Given the description of an element on the screen output the (x, y) to click on. 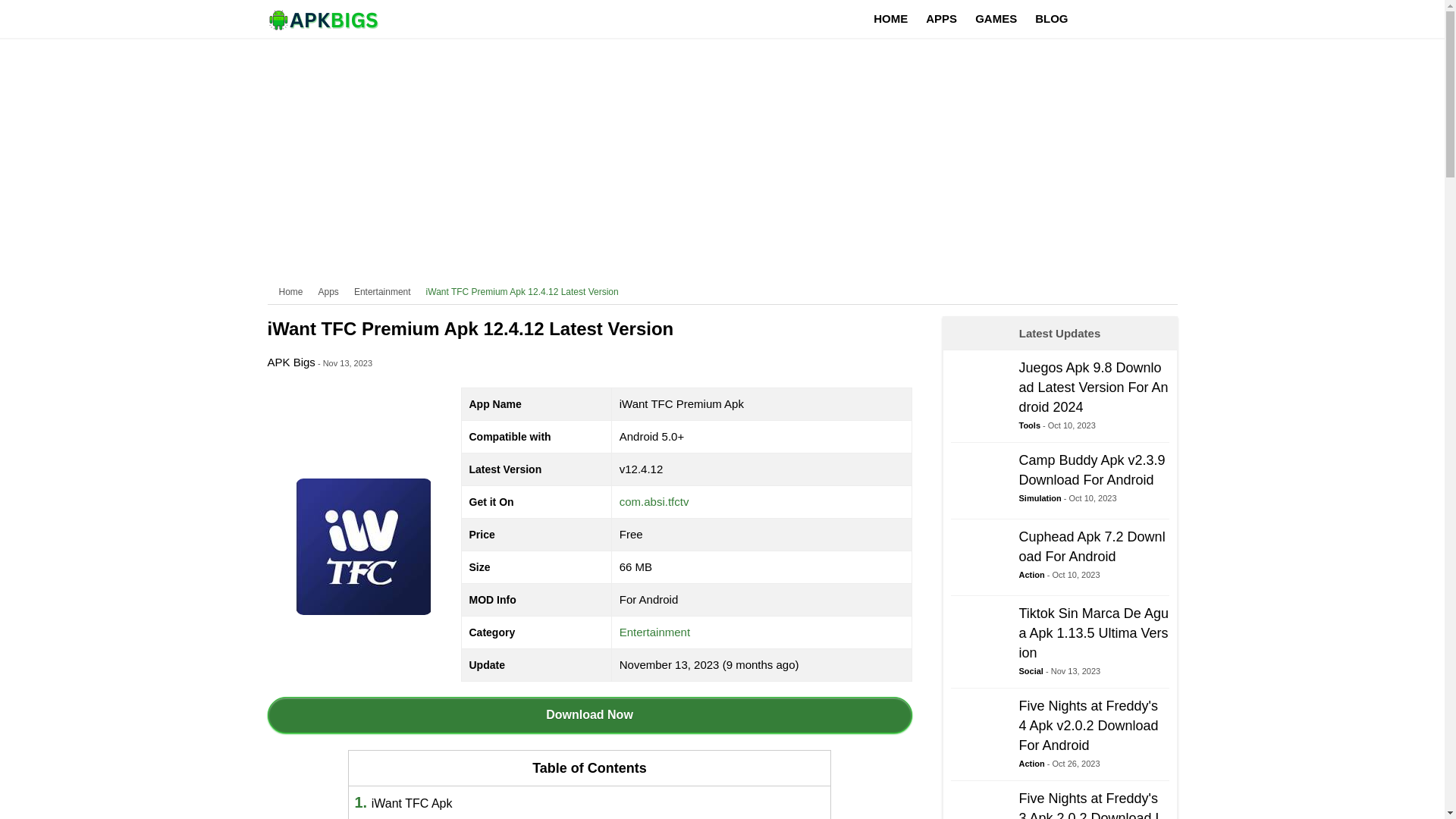
BLOG (1051, 18)
com.absi.tfctv (1059, 561)
Entertainment (654, 501)
Download Now (381, 291)
iWant TFC Apk (588, 714)
Entertainment (411, 802)
APPS (655, 631)
iWant TFC Premium Apk 12.4.12 Latest Version (941, 18)
APK Bigs (522, 291)
